Given the description of an element on the screen output the (x, y) to click on. 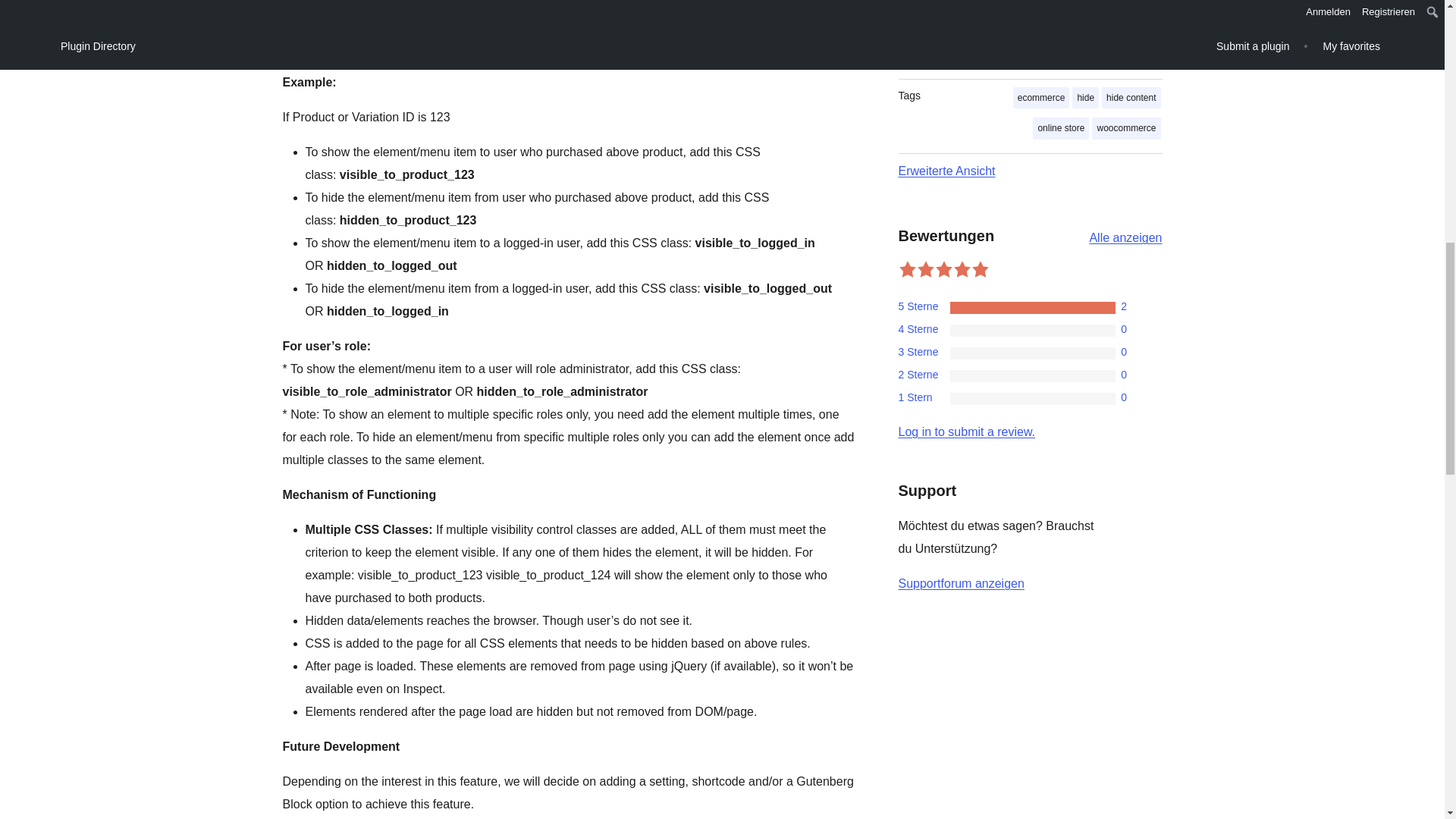
Log in to WordPress.org (966, 431)
